Given the description of an element on the screen output the (x, y) to click on. 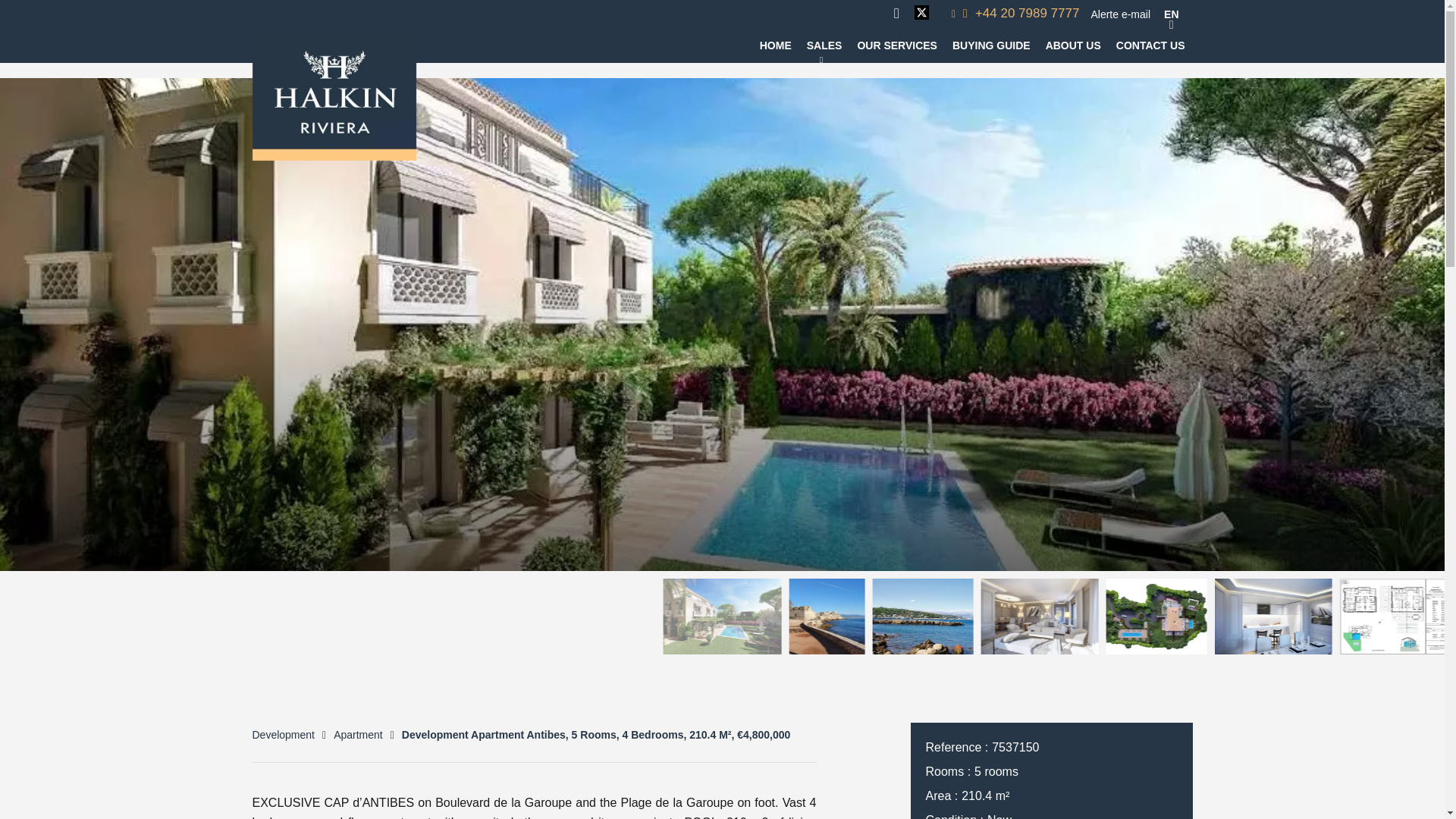
BUYING GUIDE (991, 45)
Alerte e-mail (1120, 13)
En (1171, 13)
SALES (824, 45)
ABOUT US (1072, 45)
Apartment (357, 734)
CONTACT US (1150, 45)
Development (282, 734)
HOME (776, 45)
OUR SERVICES (897, 45)
